Given the description of an element on the screen output the (x, y) to click on. 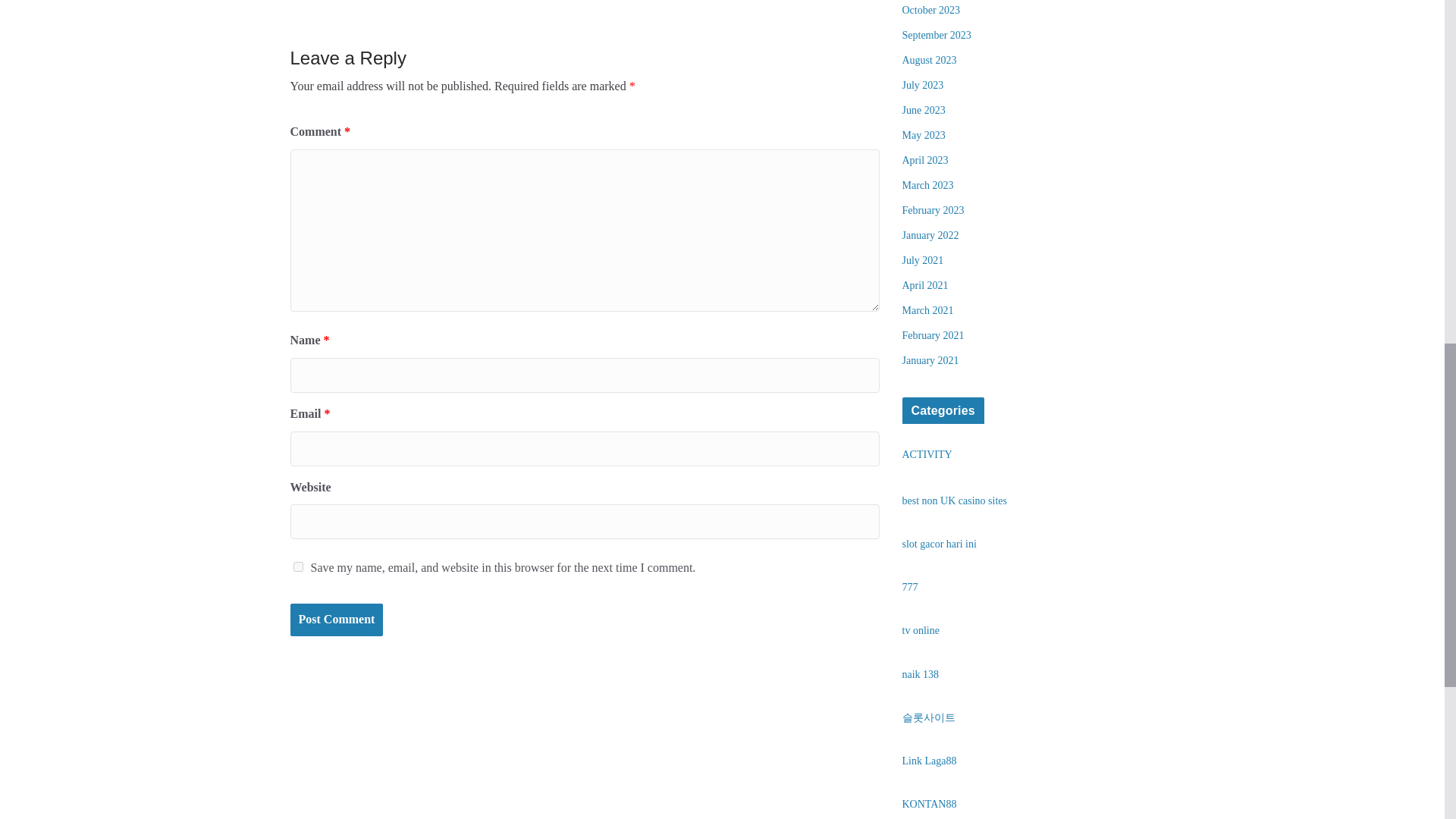
April 2023 (925, 160)
September 2023 (936, 34)
October 2023 (931, 9)
July 2023 (922, 84)
May 2023 (923, 134)
Post Comment (335, 619)
March 2023 (927, 184)
August 2023 (929, 60)
June 2023 (923, 110)
Post Comment (335, 619)
